Given the description of an element on the screen output the (x, y) to click on. 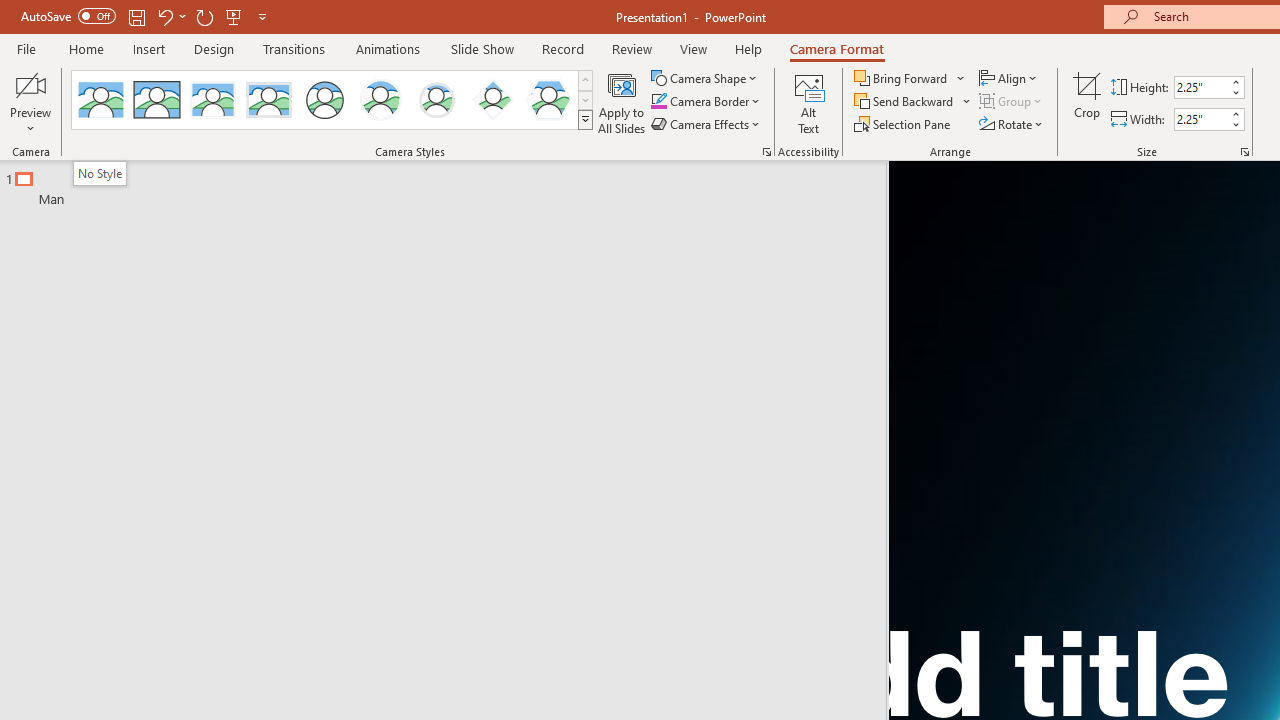
Center Shadow Circle (381, 100)
Cameo Width (1201, 119)
Group (1012, 101)
Simple Frame Circle (324, 100)
Less (1235, 124)
Simple Frame Rectangle (157, 100)
Preview (30, 102)
No Style (100, 100)
Crop (1087, 102)
More (1235, 113)
Center Shadow Rectangle (212, 100)
